Given the description of an element on the screen output the (x, y) to click on. 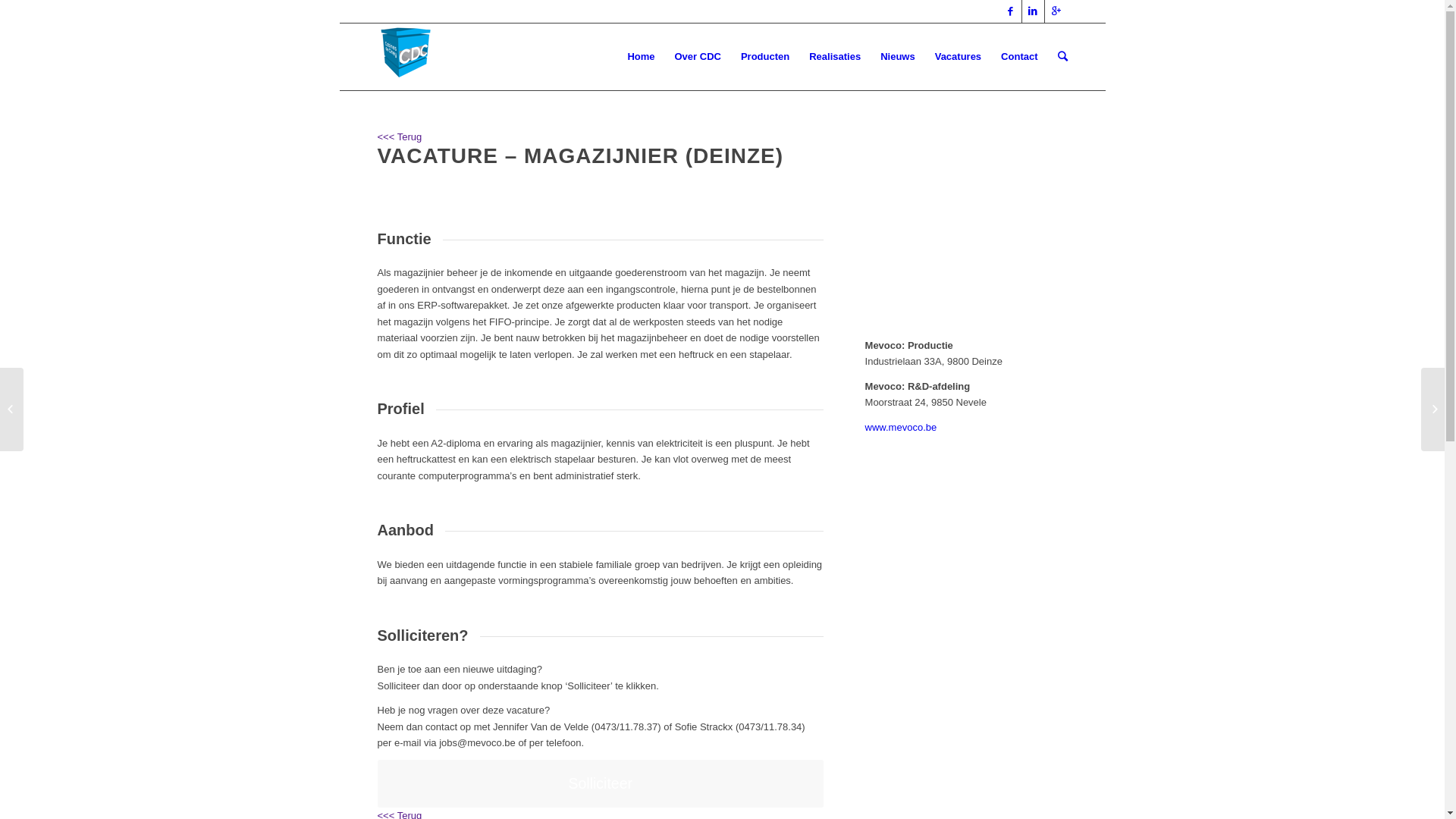
Solliciteer Element type: text (600, 783)
<<< Terug Element type: text (399, 136)
Contact Element type: text (1019, 56)
Producten Element type: text (765, 56)
Vacatures Element type: text (958, 56)
Nieuws Element type: text (897, 56)
Gplus Element type: hover (1055, 11)
Realisaties Element type: text (834, 56)
Over CDC Element type: text (697, 56)
Facebook Element type: hover (1010, 11)
www.mevoco.be Element type: text (901, 427)
Linkedin Element type: hover (1033, 11)
Home Element type: text (640, 56)
